Given the description of an element on the screen output the (x, y) to click on. 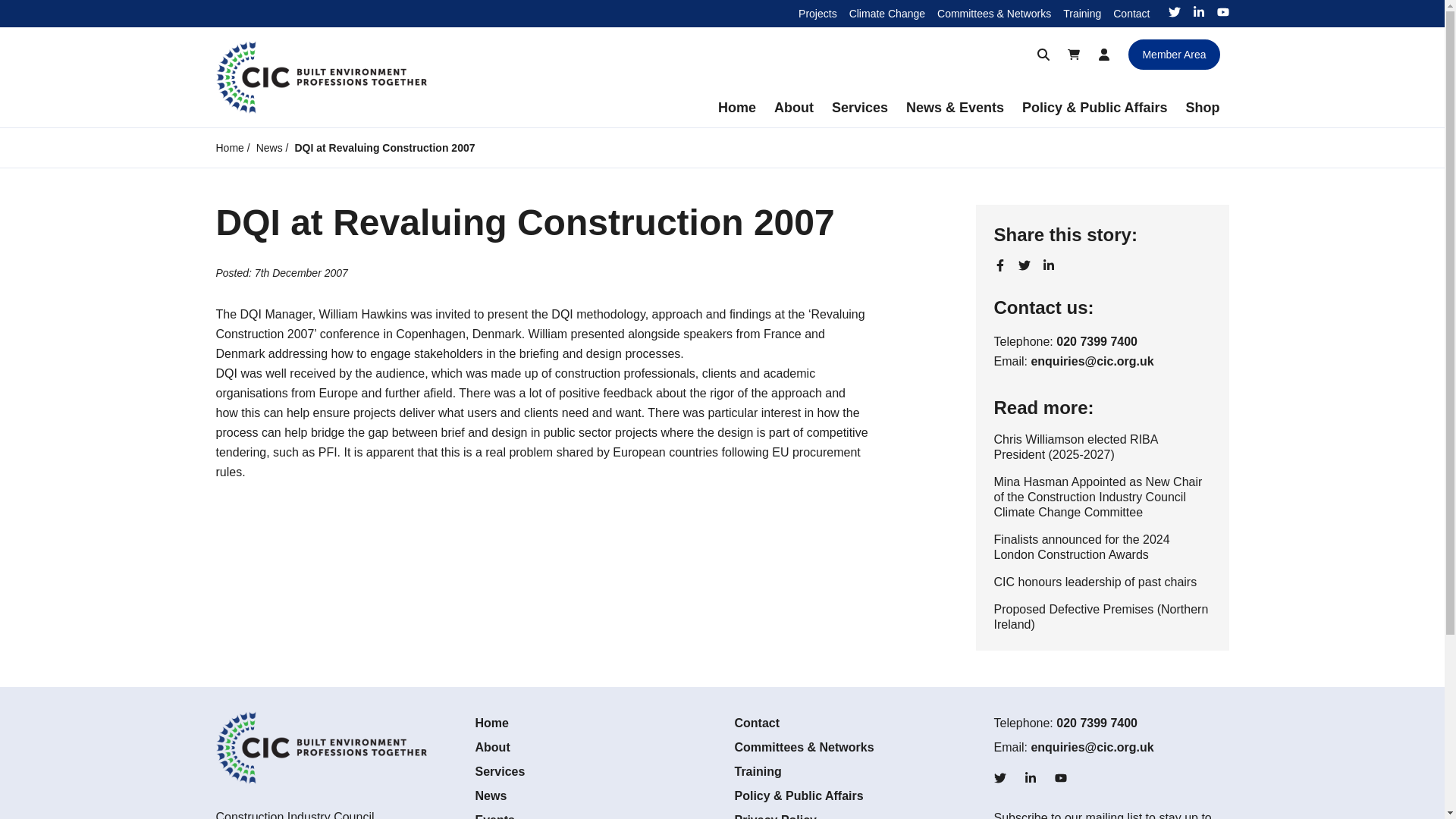
Share on Facebook (999, 265)
About (793, 107)
Share on Twitter (1023, 265)
Home (737, 107)
Contact (1131, 13)
Climate Change (886, 13)
Projects (817, 13)
Cart (1073, 54)
Member Area (1174, 54)
Share on LinkedIn (1048, 265)
Search (1042, 54)
Services (859, 107)
Training (1081, 13)
My Account (1103, 54)
